Given the description of an element on the screen output the (x, y) to click on. 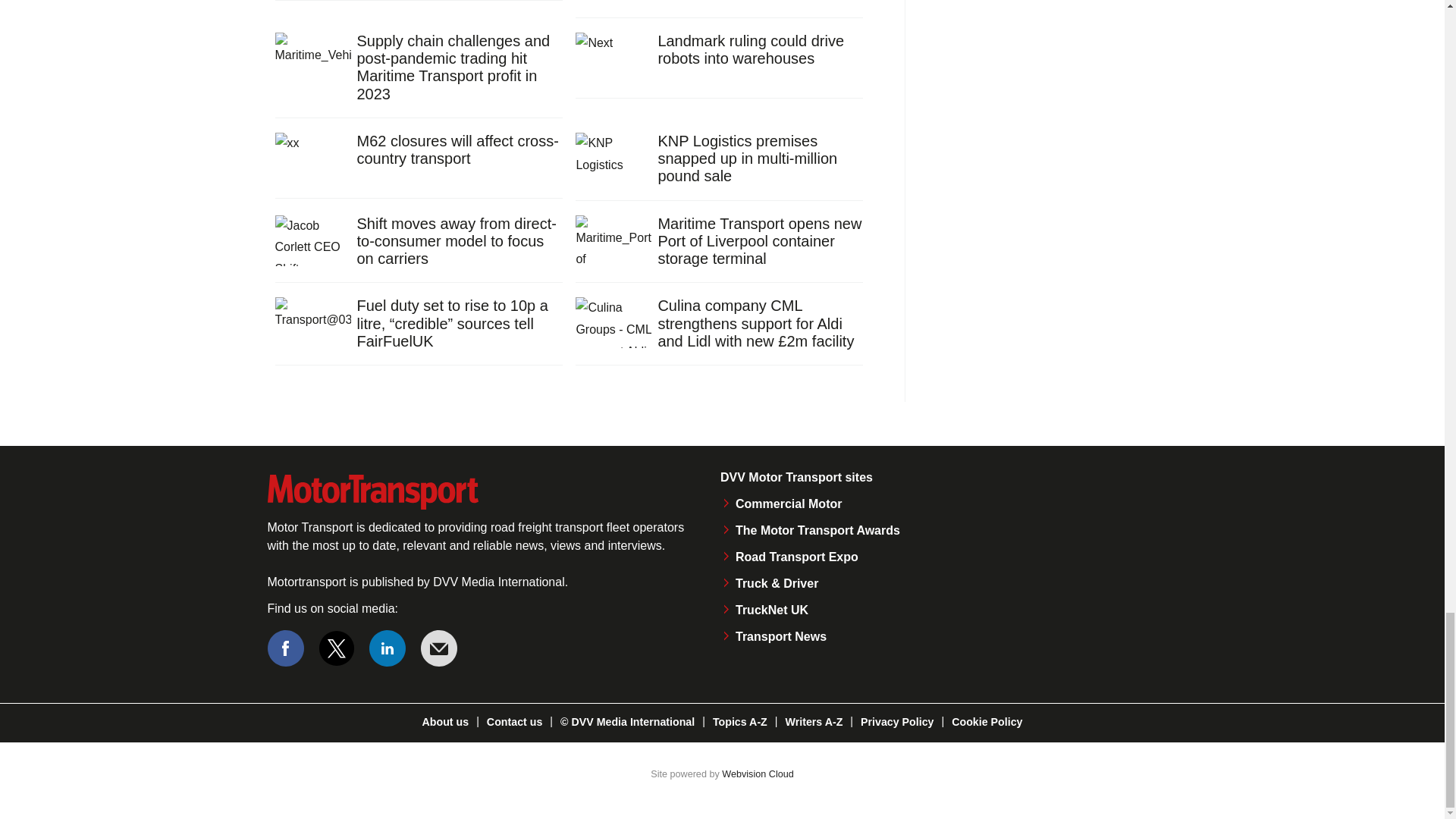
Connect with us on Twitter (336, 647)
Connect with us on Facebook (284, 647)
Email us (438, 647)
Connect with us on Linked in (387, 647)
